Given the description of an element on the screen output the (x, y) to click on. 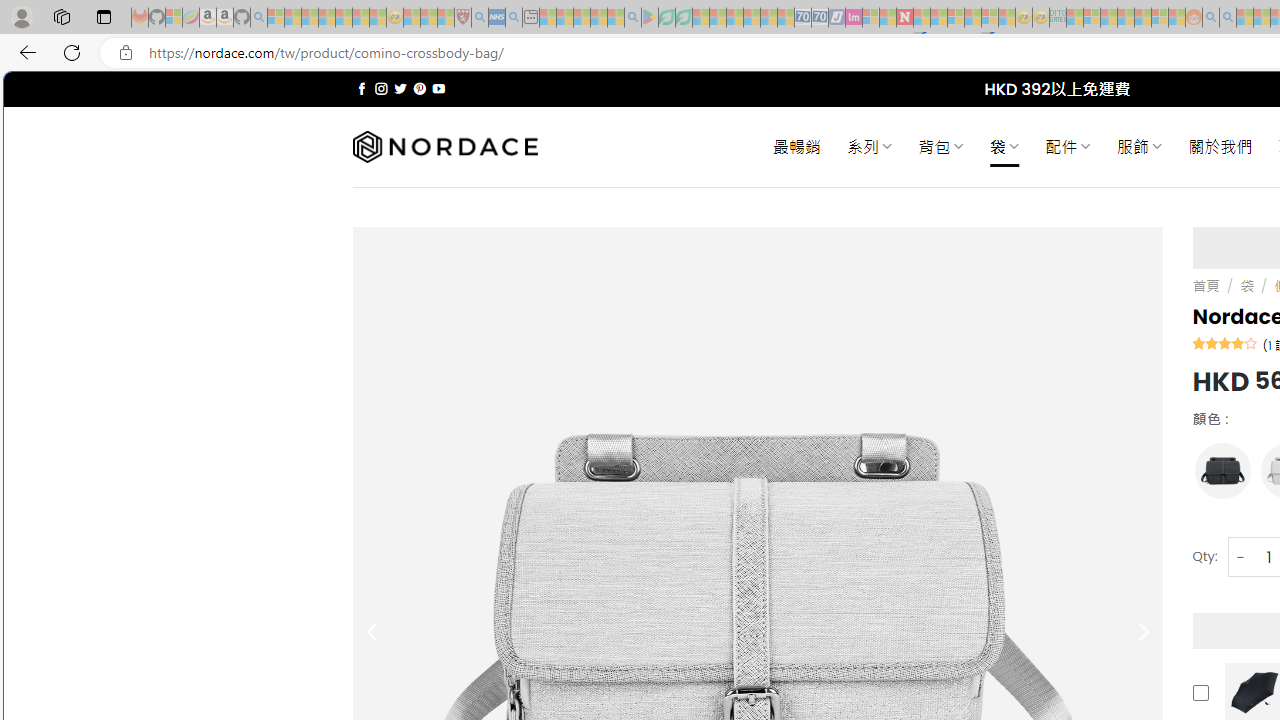
Follow on Instagram (381, 88)
